Given the description of an element on the screen output the (x, y) to click on. 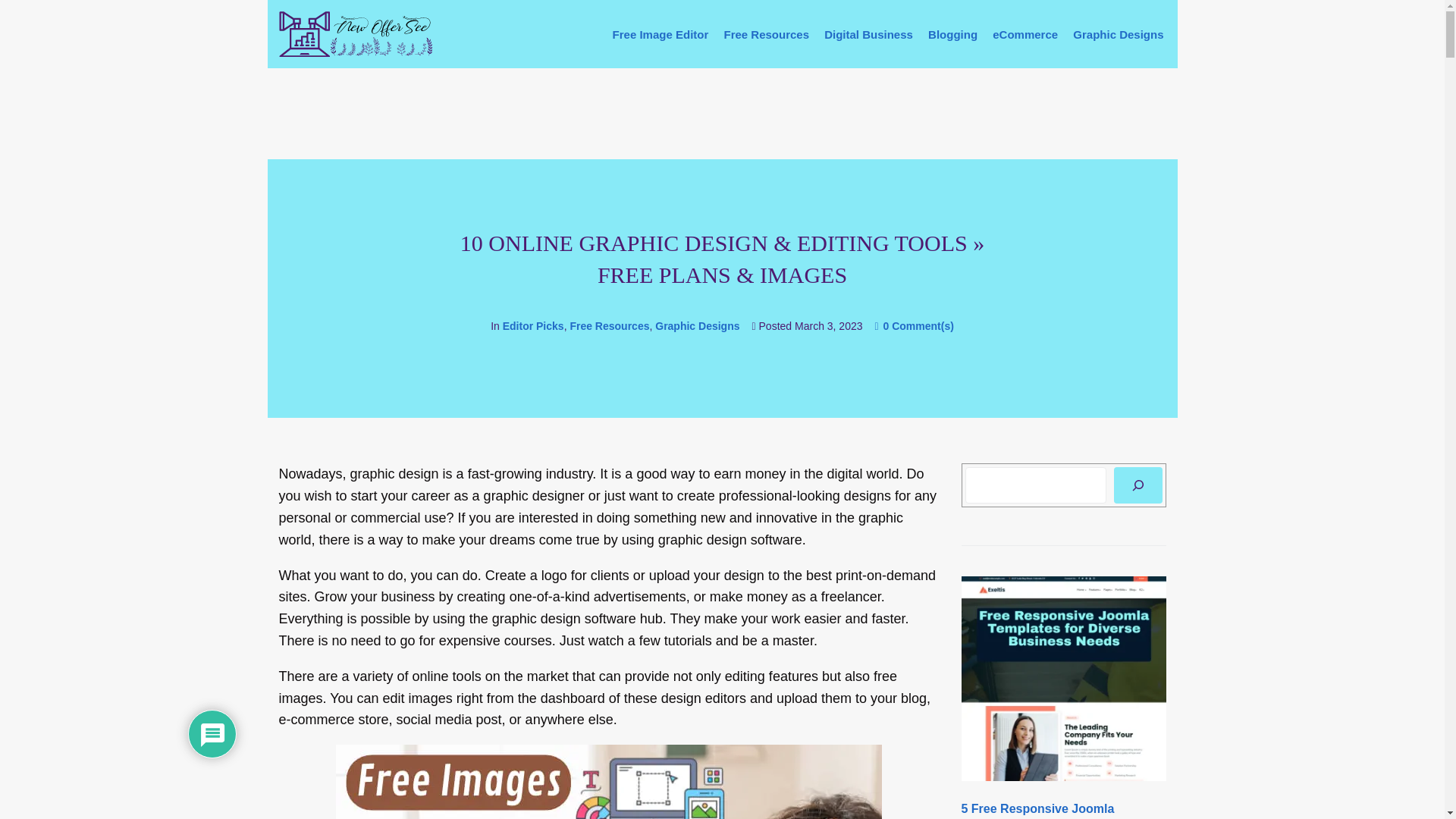
Free Resources (609, 326)
Editor Picks (533, 326)
Blogging (952, 34)
Free Image Editor (660, 34)
Digital Business (868, 34)
Graphic Designs (1118, 34)
eCommerce (1025, 34)
Graphic Designs (697, 326)
Free Resources (766, 34)
